Given the description of an element on the screen output the (x, y) to click on. 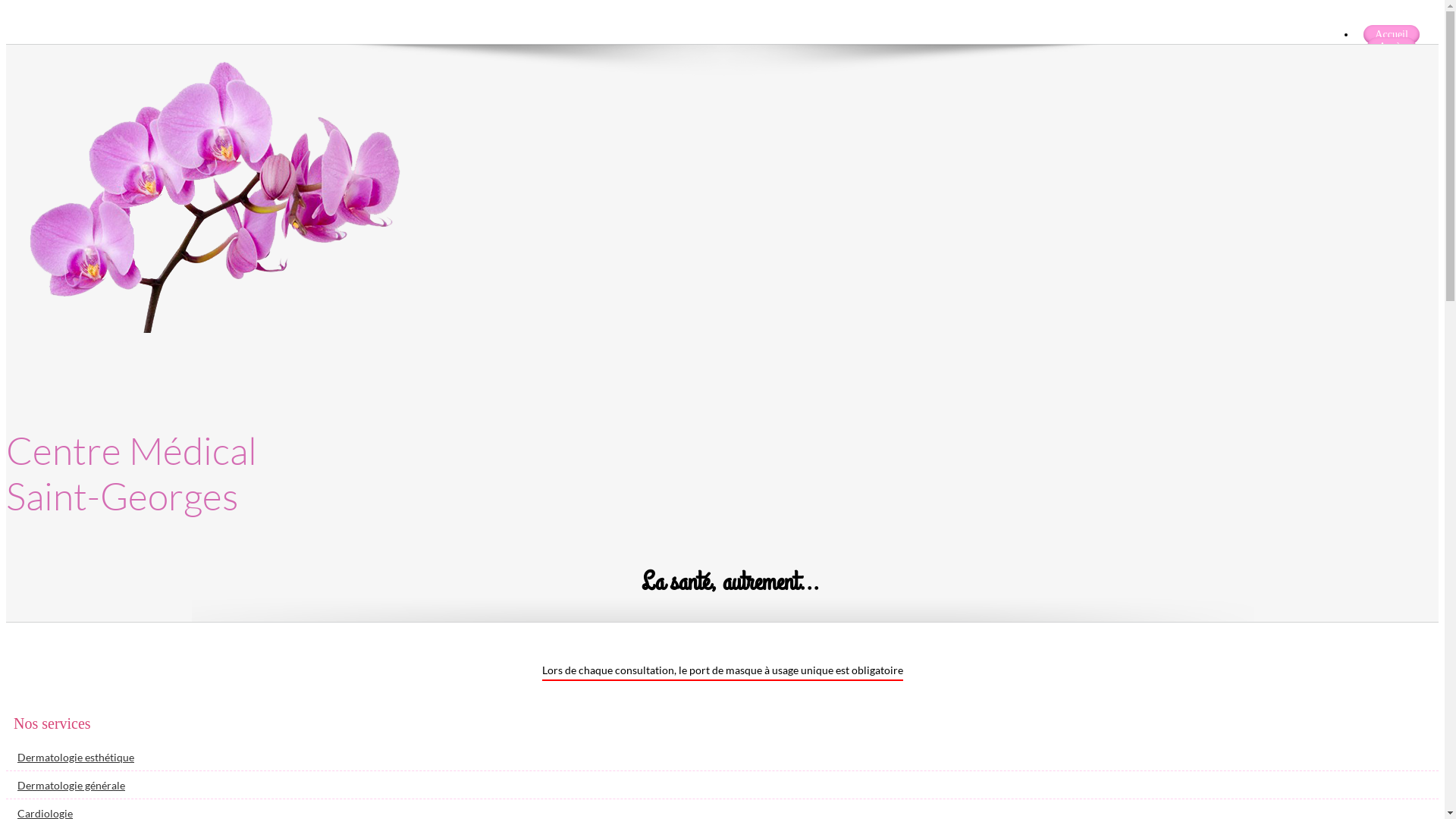
Documents Element type: text (1391, 70)
Accueil Element type: text (1391, 34)
Services Element type: text (1390, 58)
Contact Element type: text (1397, 82)
